Given the description of an element on the screen output the (x, y) to click on. 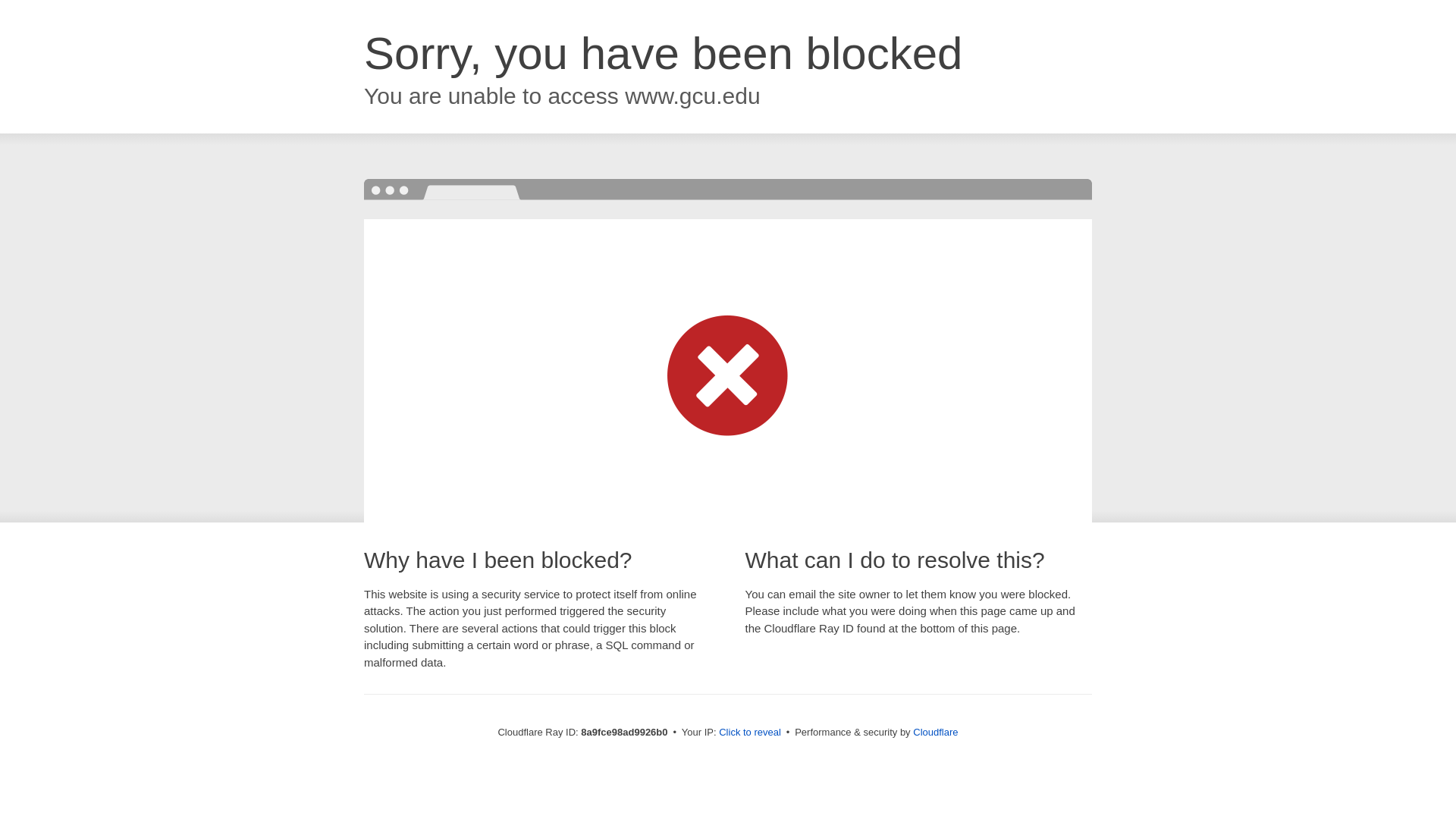
Cloudflare (935, 731)
Click to reveal (749, 732)
